Given the description of an element on the screen output the (x, y) to click on. 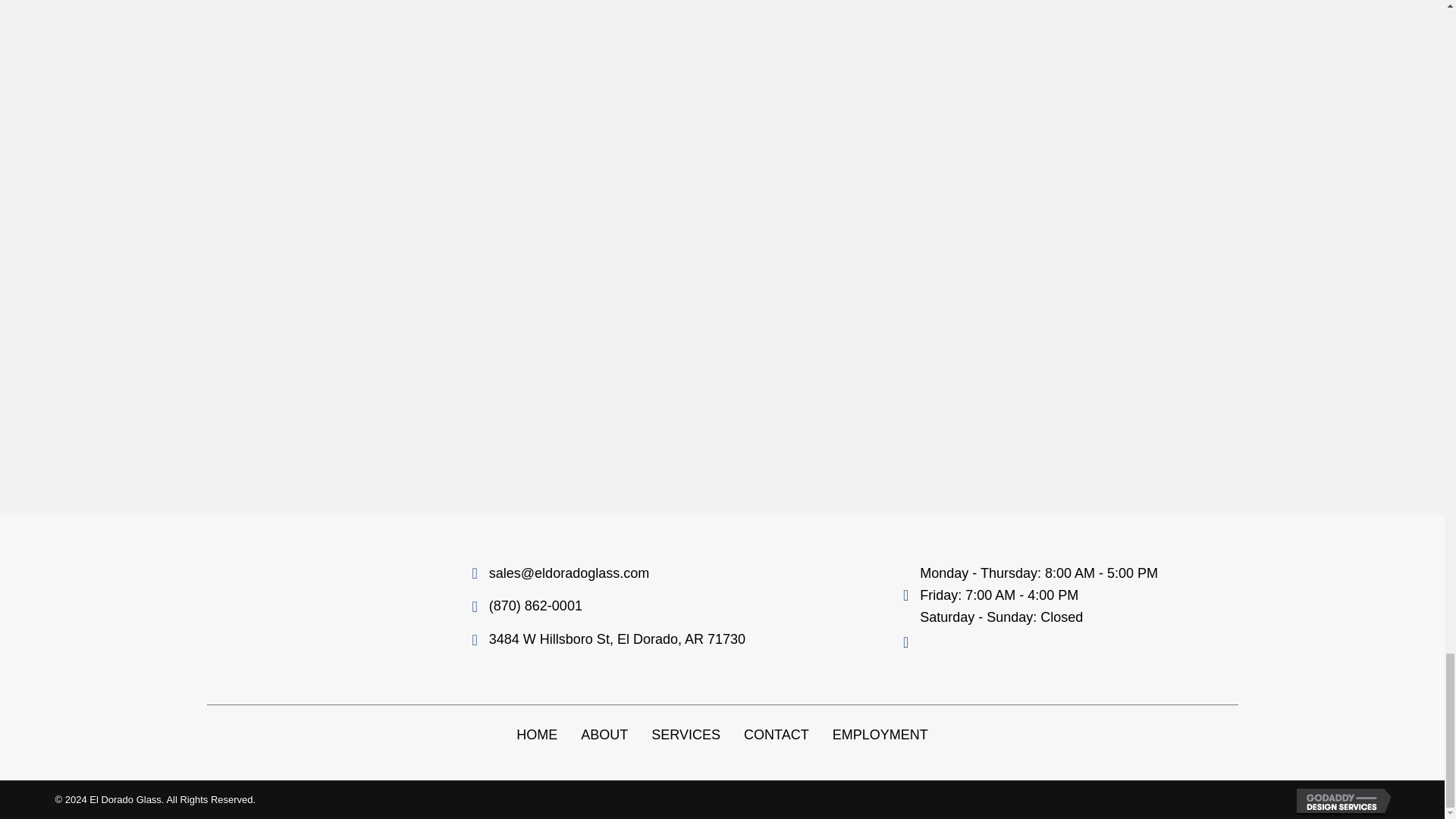
CONTACT (776, 735)
3484 W Hillsboro St, El Dorado, AR 71730 (617, 639)
logo (282, 609)
HOME (537, 735)
SERVICES (686, 735)
EMPLOYMENT (880, 735)
ABOUT (604, 735)
